Given the description of an element on the screen output the (x, y) to click on. 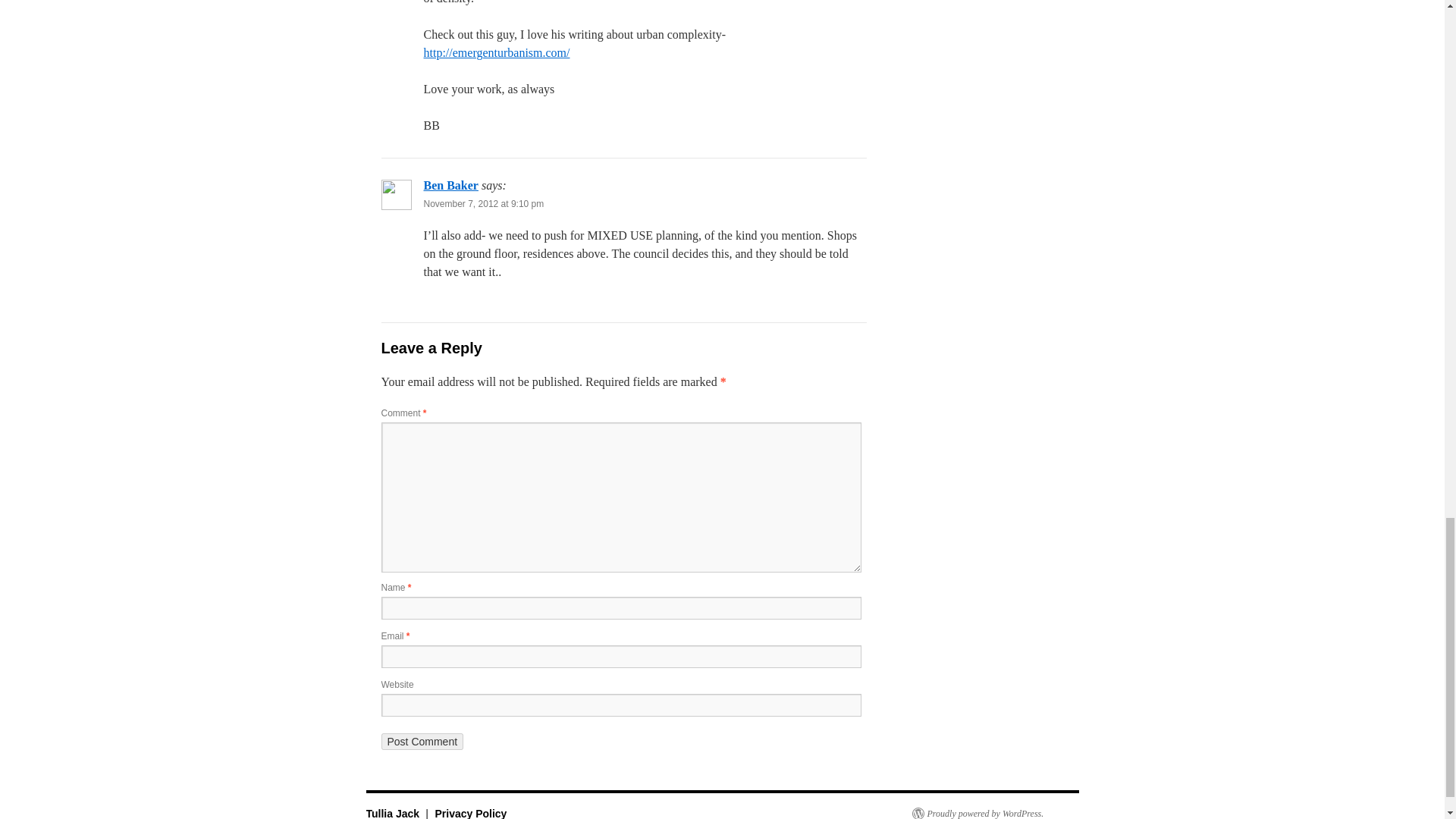
November 7, 2012 at 9:10 pm (483, 204)
Post Comment (421, 741)
Ben Baker (450, 185)
Post Comment (421, 741)
